Given the description of an element on the screen output the (x, y) to click on. 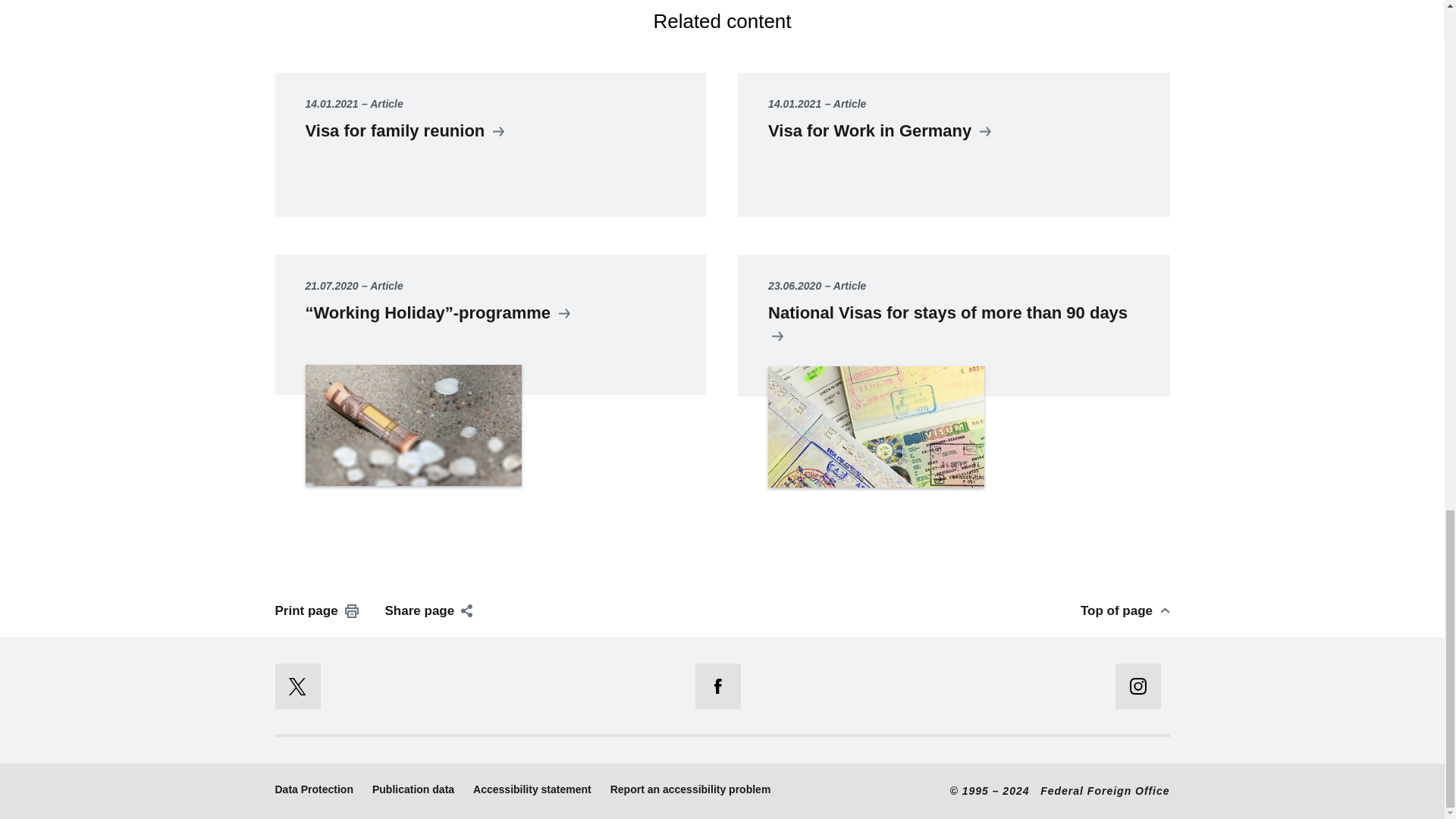
Print page (316, 610)
Visa for family reunion (490, 144)
Working Holiday-programme (490, 385)
National Visas for stays of more than 90 days (953, 385)
